Given the description of an element on the screen output the (x, y) to click on. 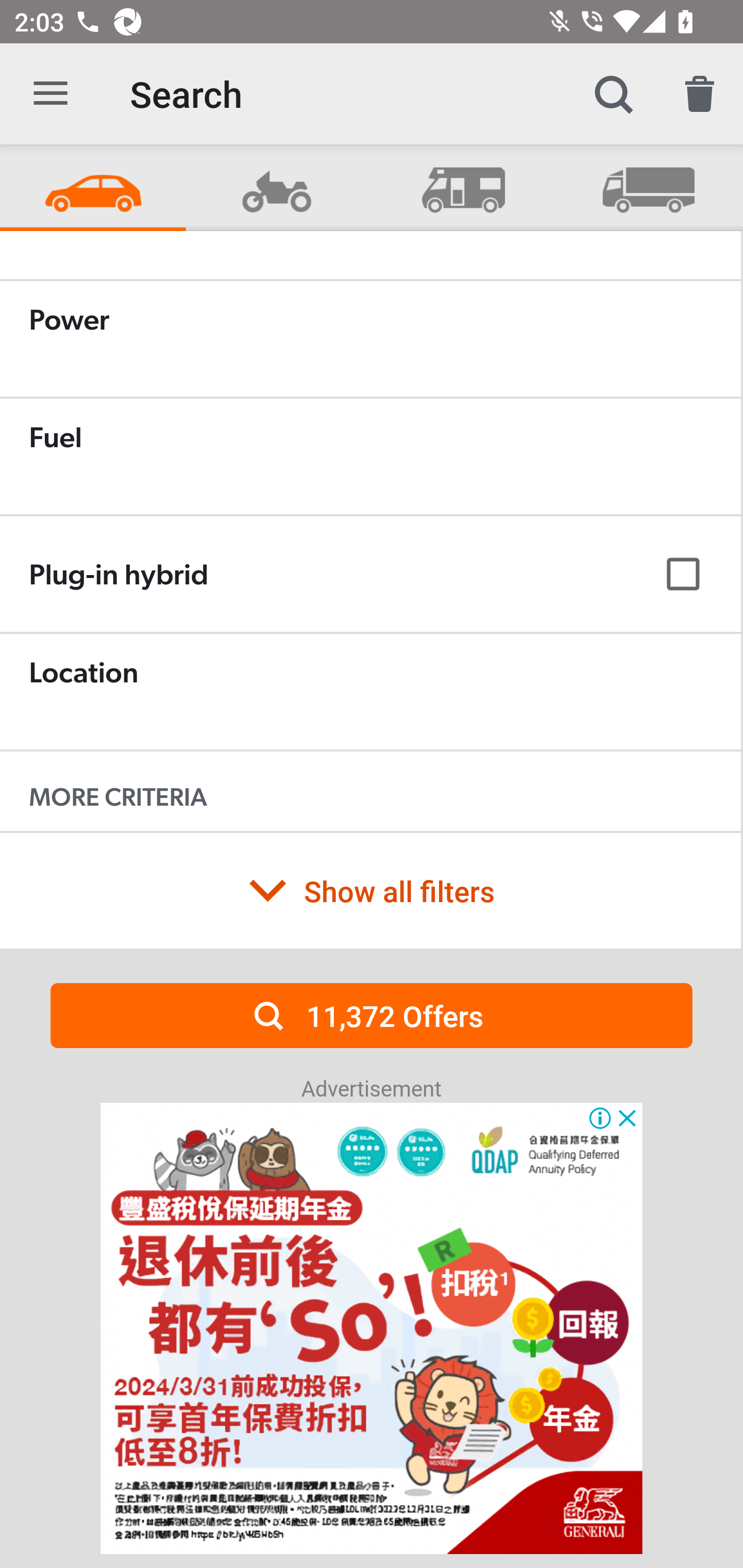
Open navigation bar (50, 93)
Search (612, 93)
Reset search (699, 93)
Power (370, 338)
Fuel (370, 456)
Plug-in hybrid (370, 573)
Plug-in hybrid (369, 574)
Location (370, 691)
Show all filters (370, 890)
11,372 Offers (371, 1015)
